Given the description of an element on the screen output the (x, y) to click on. 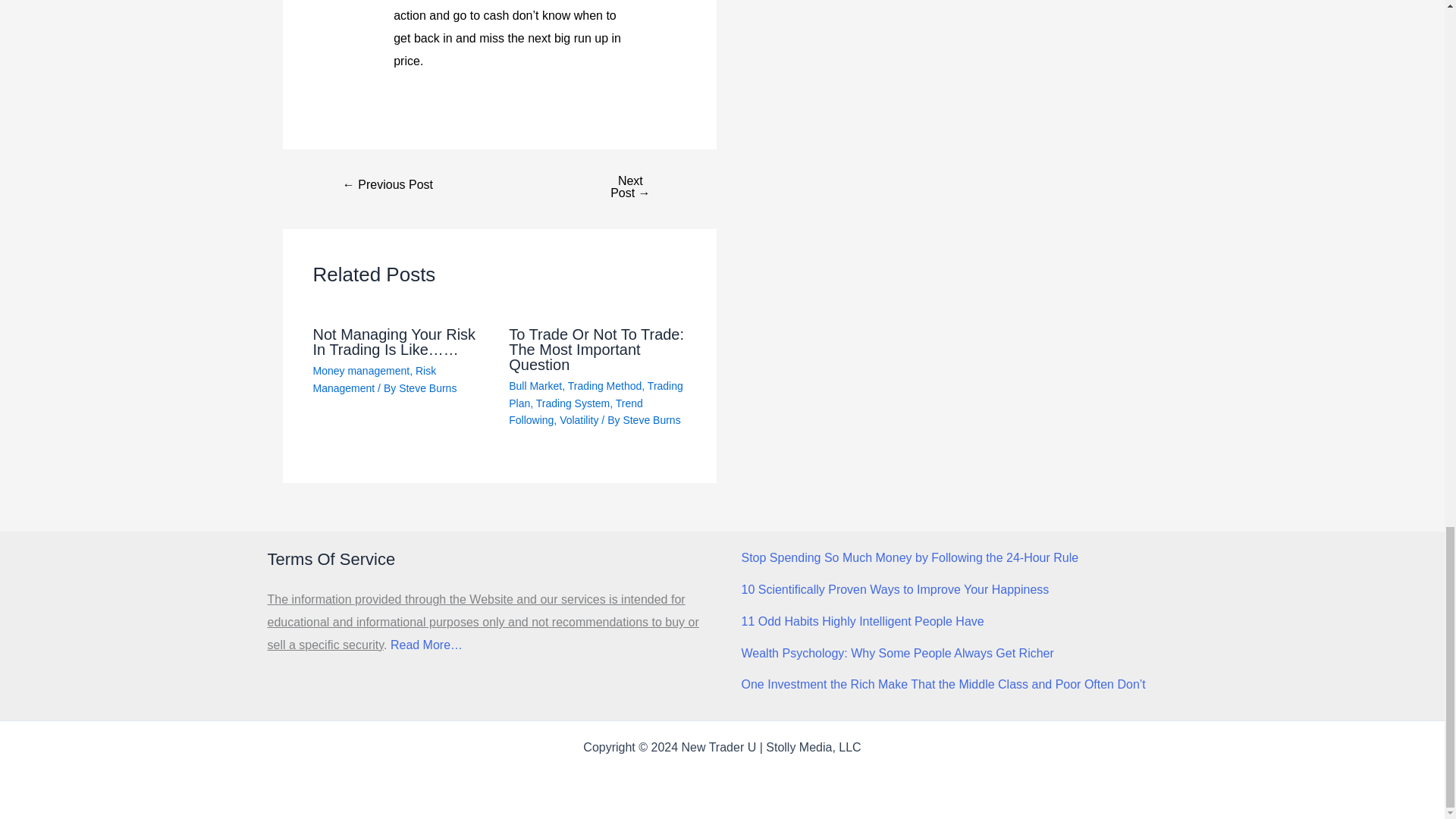
View all posts by Steve Burns (427, 387)
What is Money? (630, 187)
Coronavirus News Updates (387, 184)
View all posts by Steve Burns (651, 419)
Money management (361, 370)
Steve Burns (427, 387)
To Trade Or Not To Trade: The Most Important Question (596, 349)
Bull Market (535, 386)
Trading Method (604, 386)
Risk Management (374, 378)
